Given the description of an element on the screen output the (x, y) to click on. 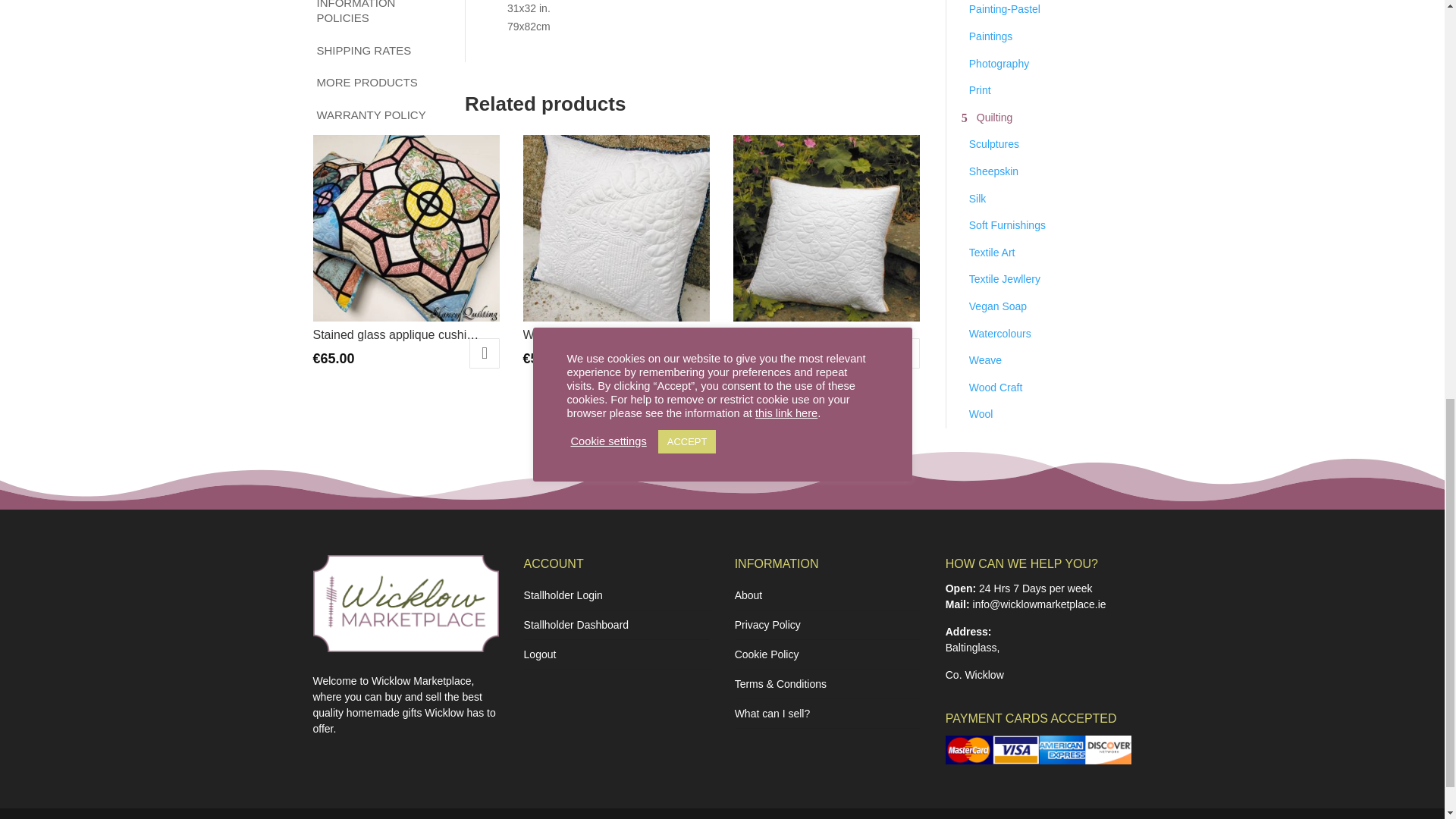
Payment accept (1038, 749)
